Given the description of an element on the screen output the (x, y) to click on. 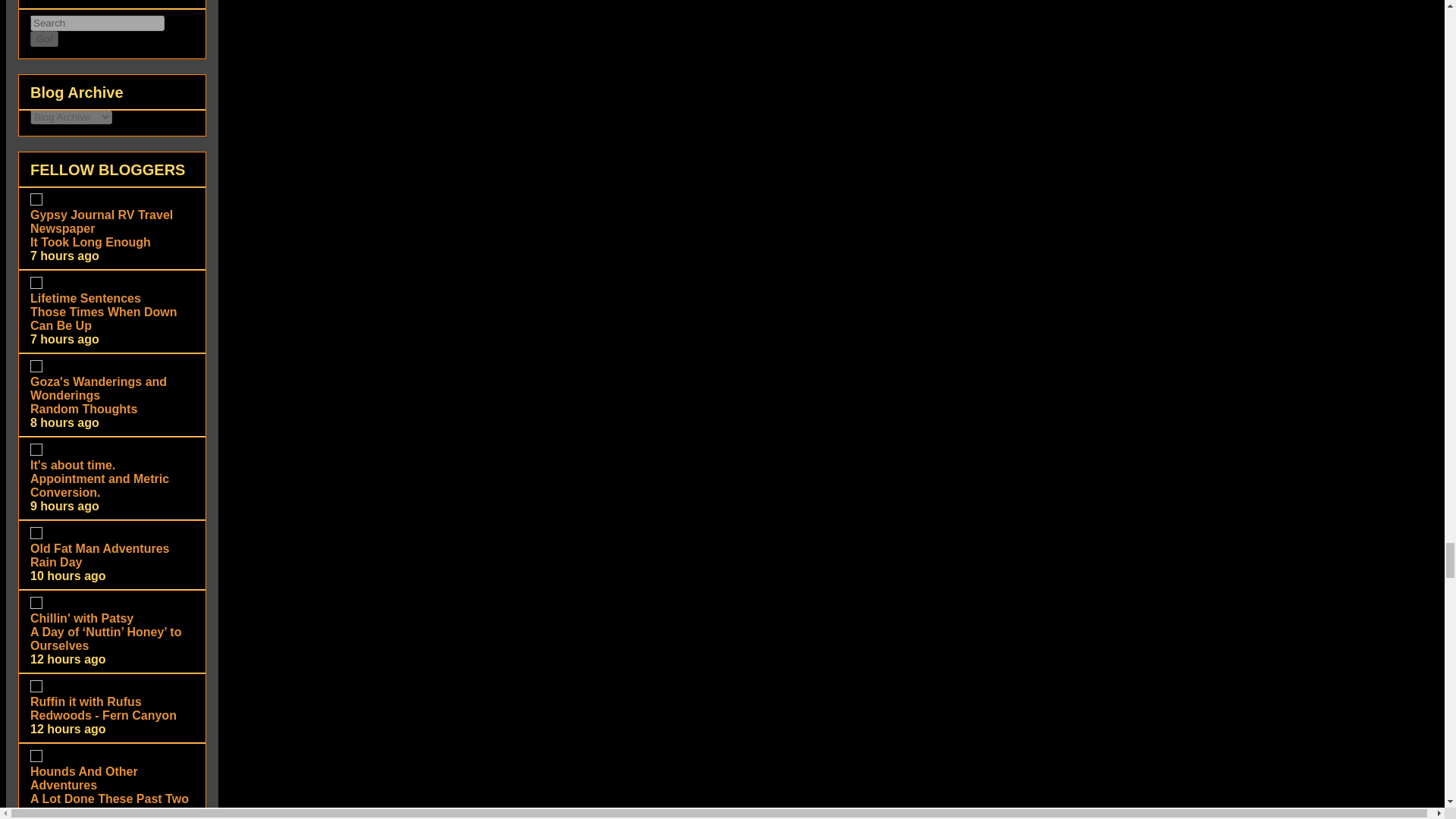
Search (97, 23)
Go! (44, 38)
